Given the description of an element on the screen output the (x, y) to click on. 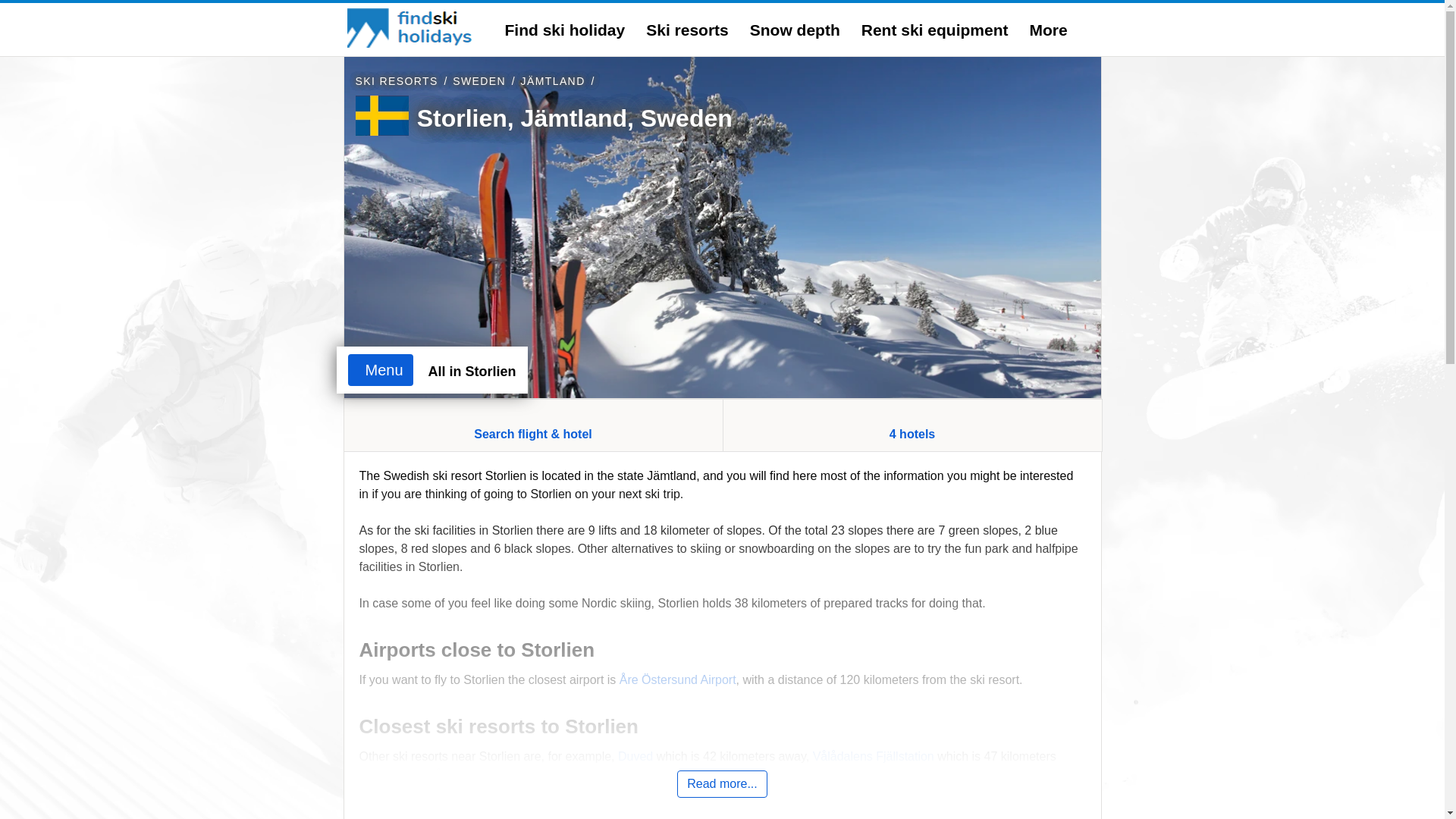
Sweden (478, 80)
Find ski holiday (565, 29)
More (1048, 29)
Find ski holiday (565, 29)
Ski resorts (396, 80)
FindSkiHolidays.com (411, 26)
Ski resorts (687, 29)
Rent ski equipment (935, 29)
Rent ski equipment (935, 29)
Snow depth (794, 29)
Snow depth (794, 29)
Ski resorts (687, 29)
